Given the description of an element on the screen output the (x, y) to click on. 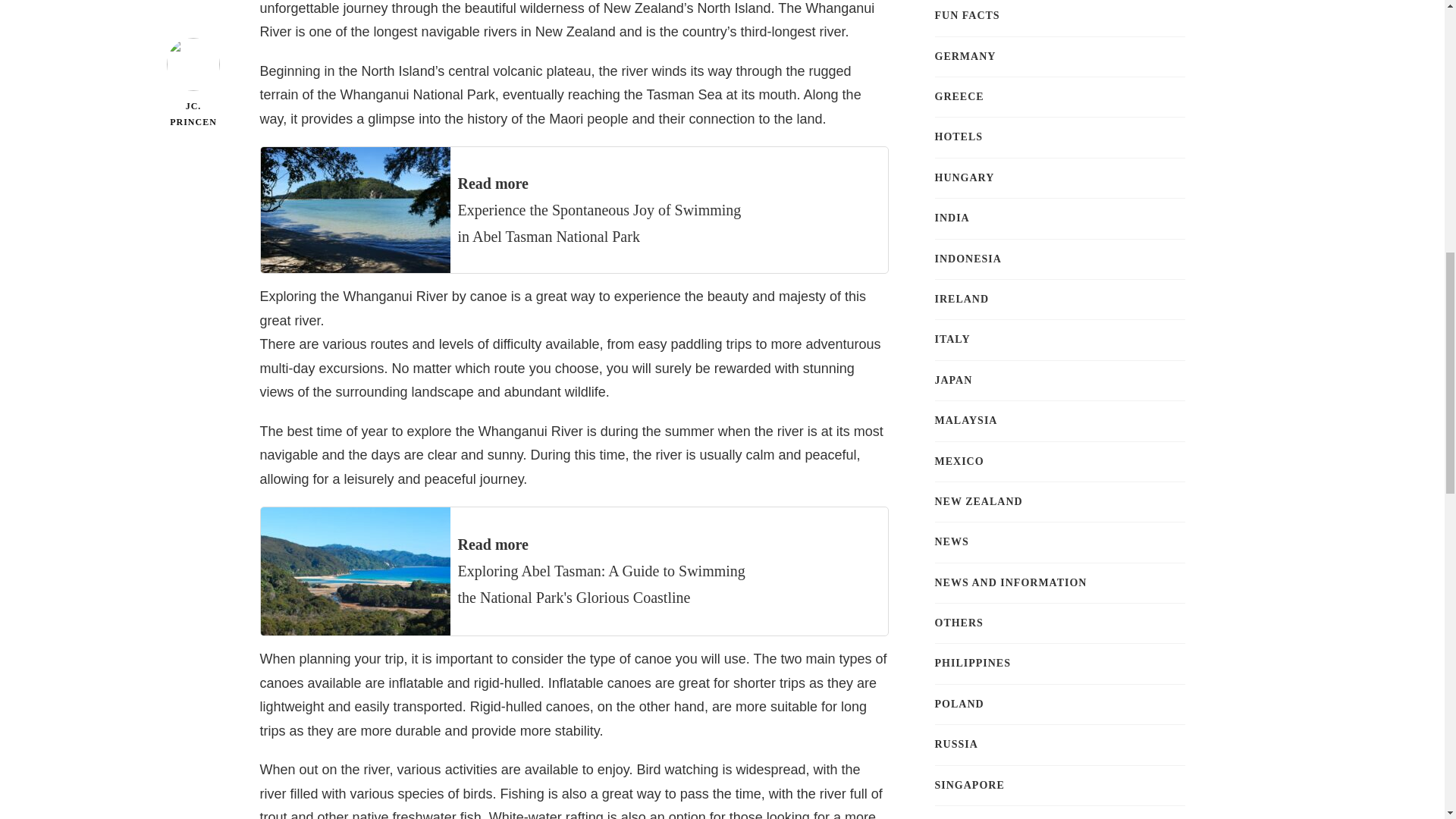
Exploring the Whanganui River by canoe (382, 296)
JC. PRINCEN (193, 29)
